Given the description of an element on the screen output the (x, y) to click on. 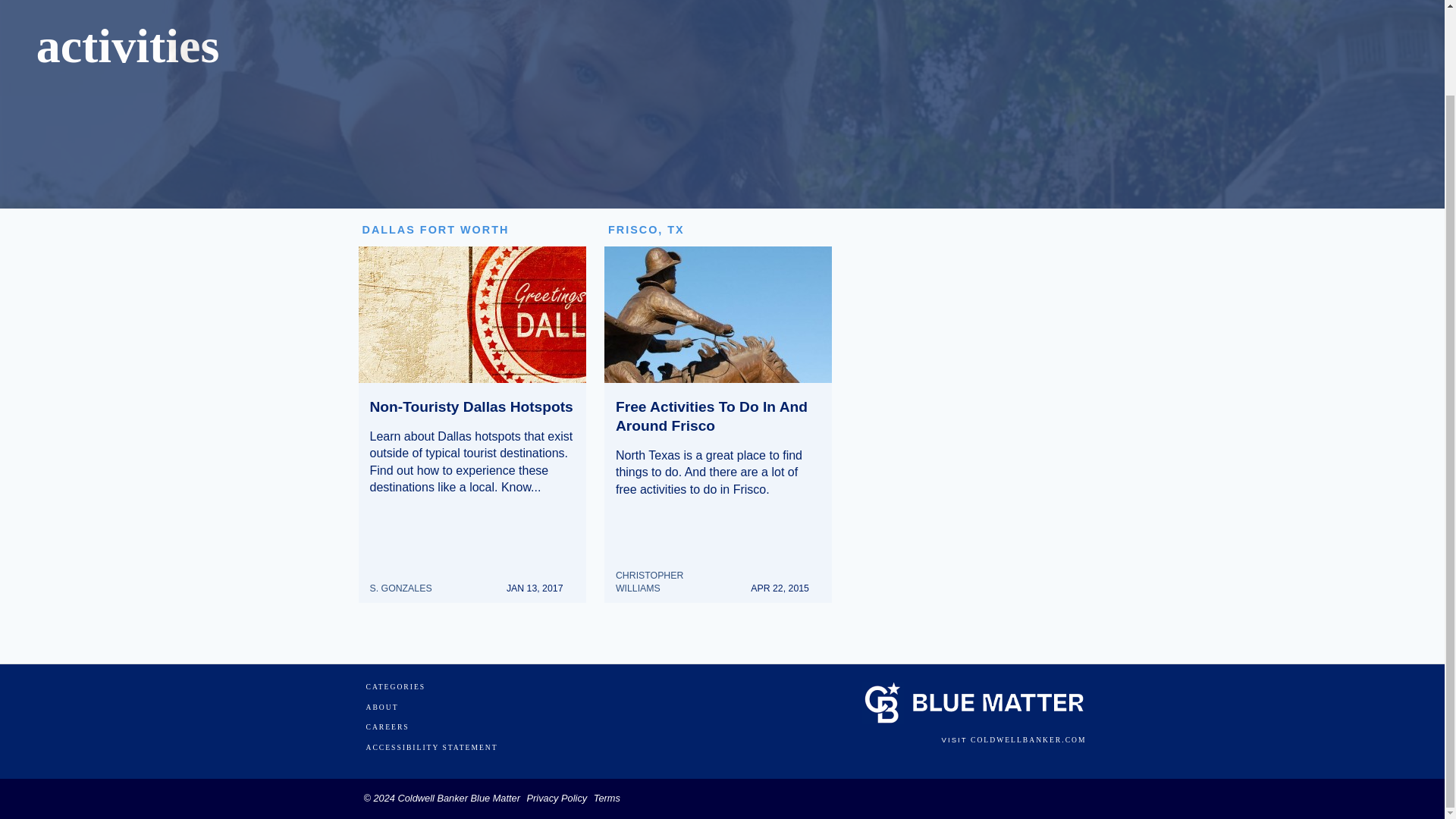
COLDWELLBANKER.COM (1028, 739)
Coldwell Banker Blue Matter (458, 797)
CATEGORIES (395, 687)
ACCESSIBILITY STATEMENT (431, 747)
ABOUT (381, 707)
FRISCO, TX (646, 229)
CHRISTOPHER WILLIAMS (672, 574)
Privacy Policy (557, 797)
Terms (607, 797)
S. GONZALES (406, 581)
CAREERS (387, 727)
Non-Touristy Dallas Hotspots (471, 406)
Free Activities To Do In And Around Frisco (711, 416)
Posts by S. Gonzales (406, 581)
Posts by Christopher Williams (672, 574)
